Given the description of an element on the screen output the (x, y) to click on. 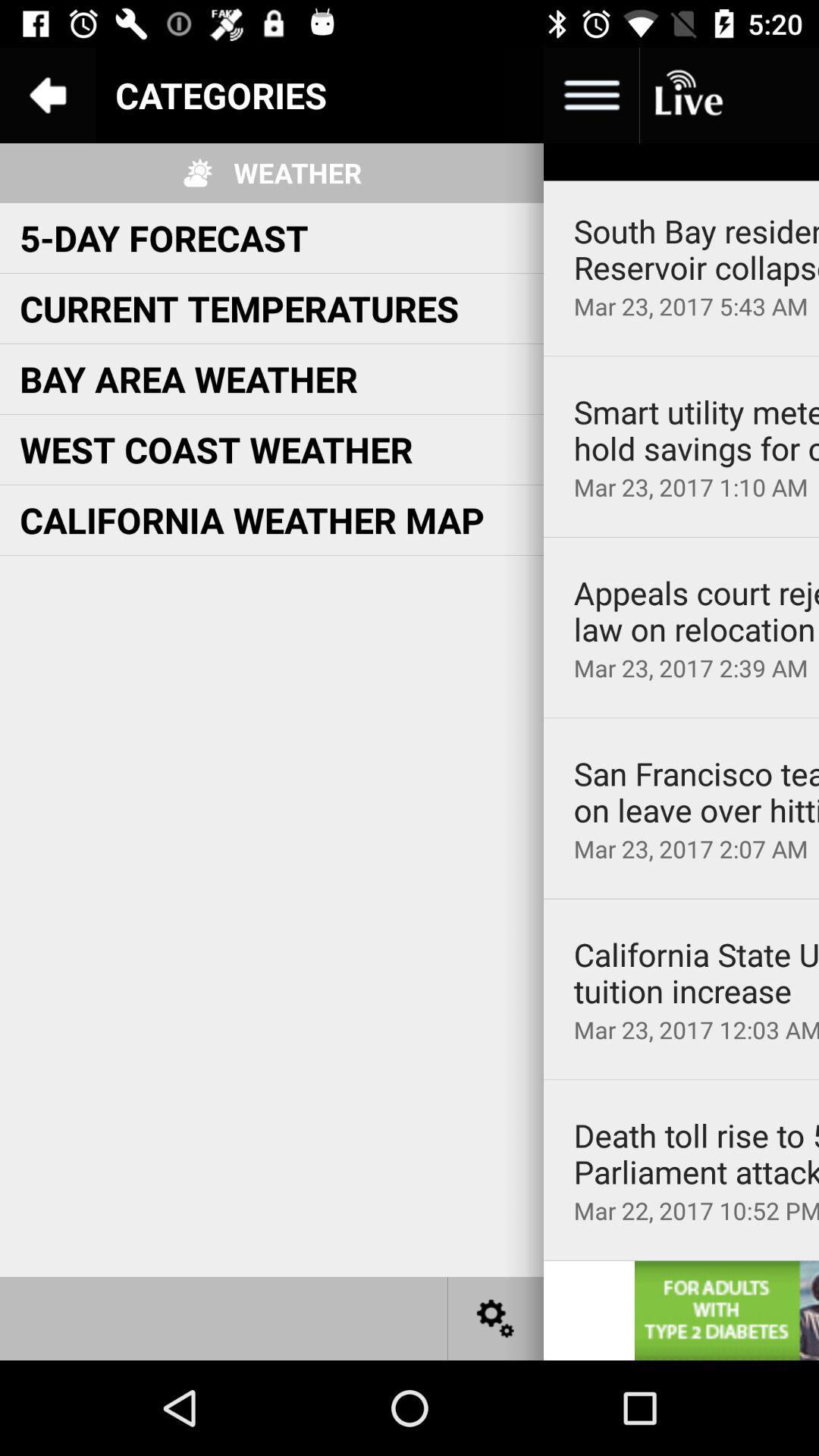
go to options (591, 95)
